Given the description of an element on the screen output the (x, y) to click on. 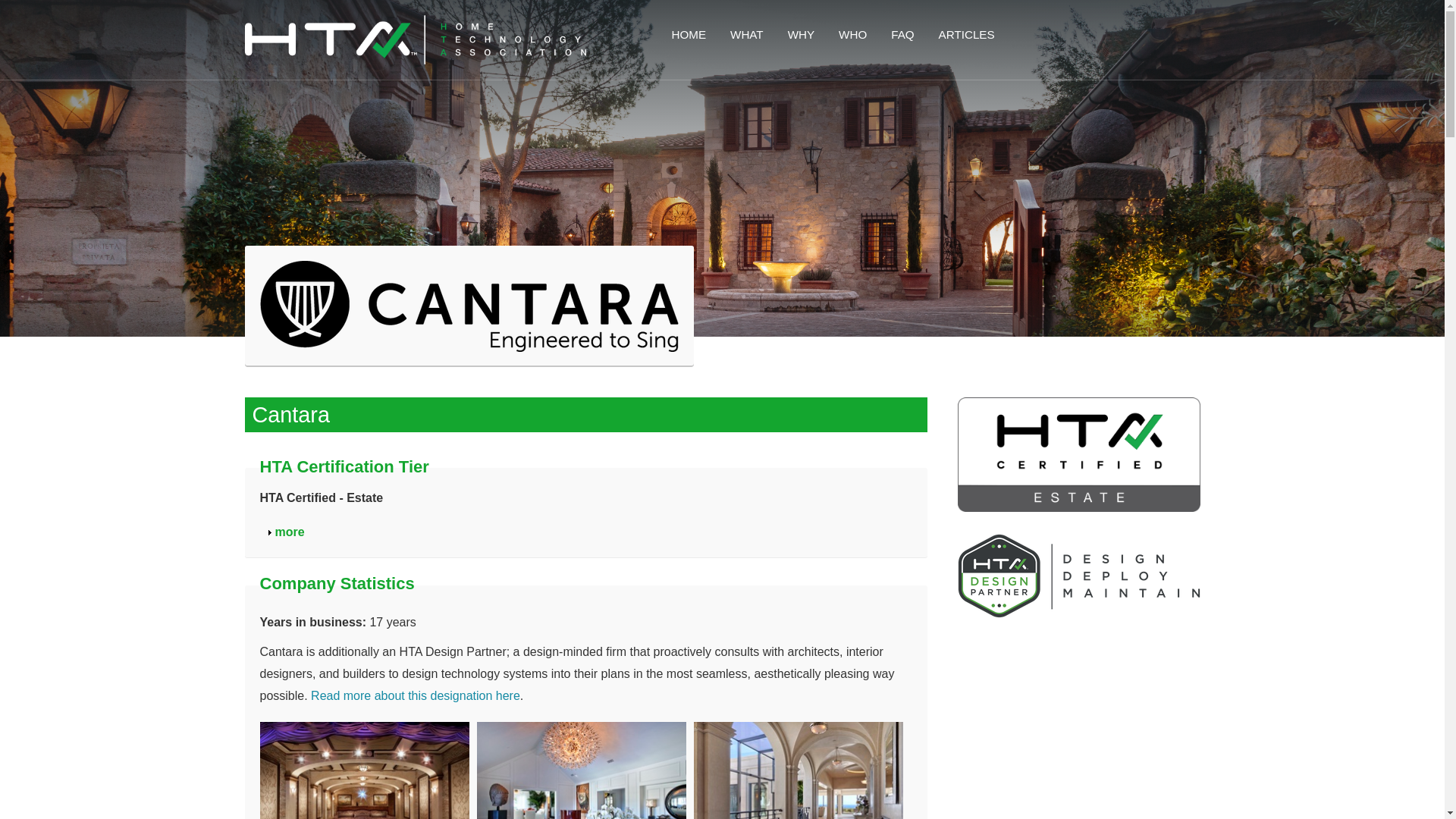
WHAT (745, 34)
HOME (687, 34)
WHO (851, 34)
Home automation installation by Cantara  Laguna Beach (802, 770)
Read more about this designation here (415, 695)
FAQ (900, 34)
WHY (799, 34)
Smart home AV integrator Cantara  services Newport Coast (468, 305)
AV installer Cantara  services Orange County (289, 531)
ARTICLES (368, 770)
